Given the description of an element on the screen output the (x, y) to click on. 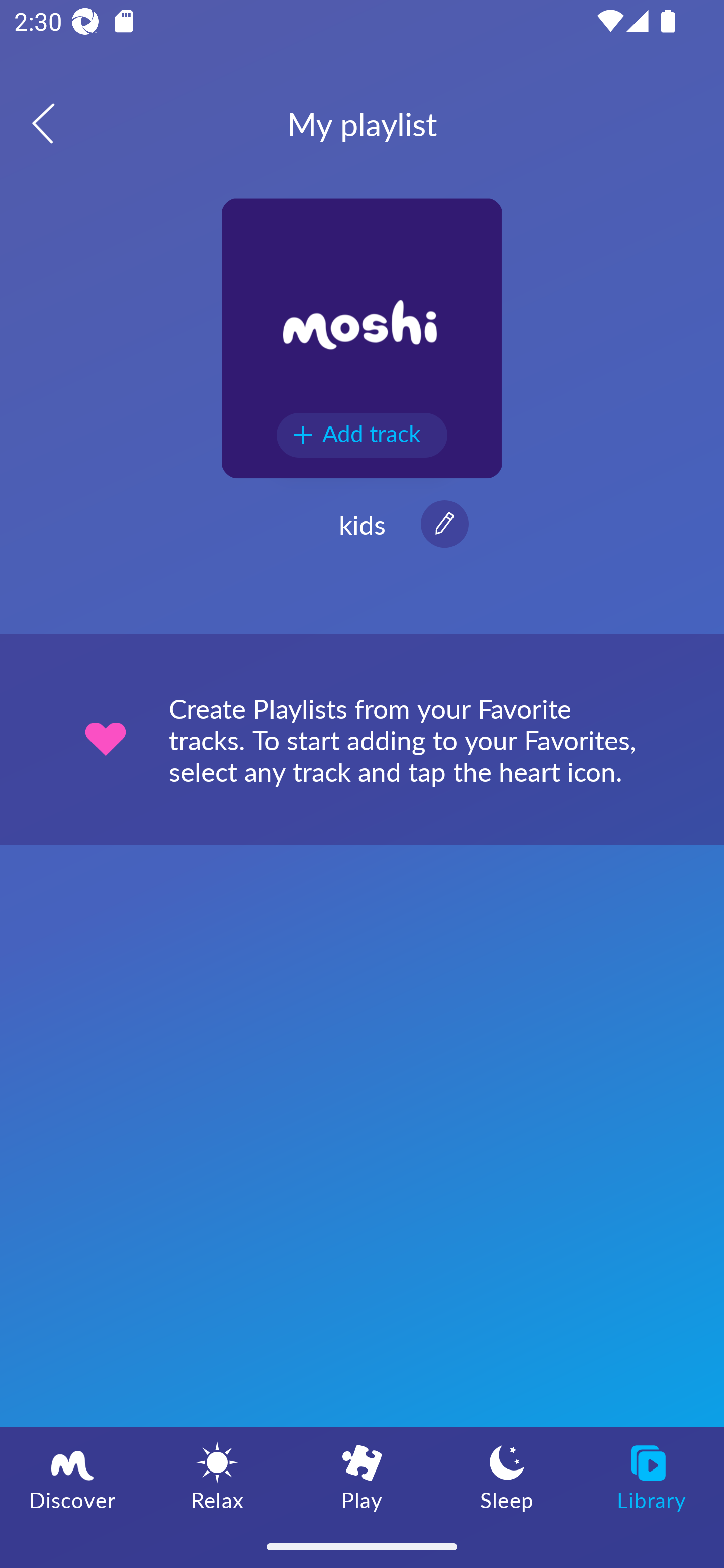
Add track (361, 434)
Discover (72, 1475)
Relax (216, 1475)
Play (361, 1475)
Sleep (506, 1475)
